Given the description of an element on the screen output the (x, y) to click on. 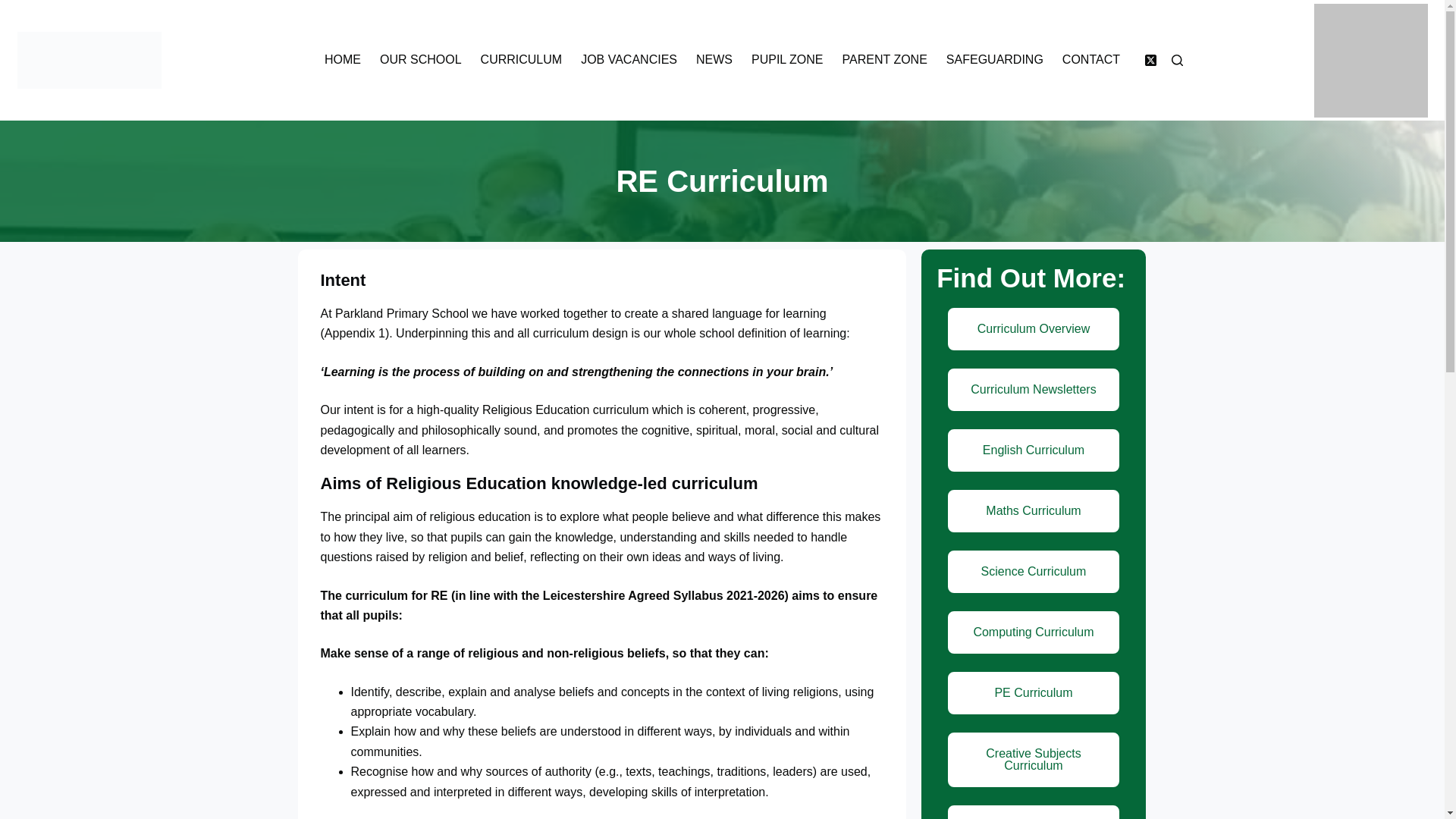
SAFEGUARDING (994, 60)
Computing Curriculum (1033, 632)
Creative Subjects Curriculum (1033, 759)
Curriculum Overview (1033, 329)
Skip to content (15, 7)
Curriculum Newsletters (1033, 389)
JOB VACANCIES (629, 60)
PE Curriculum (1033, 692)
Maths Curriculum (1033, 510)
English Curriculum (1033, 450)
